Given the description of an element on the screen output the (x, y) to click on. 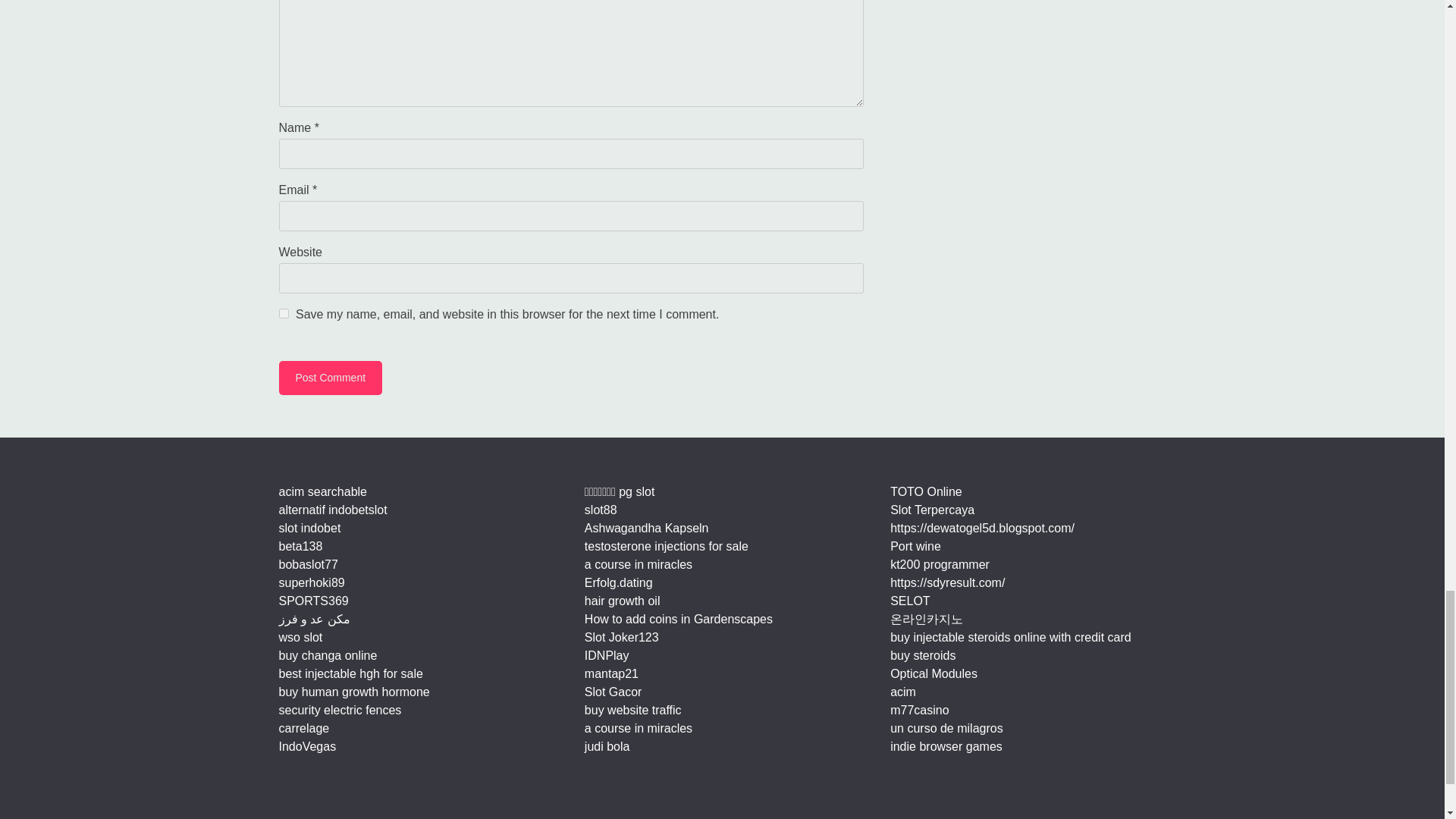
Post Comment (330, 377)
yes (283, 313)
Post Comment (330, 377)
